Given the description of an element on the screen output the (x, y) to click on. 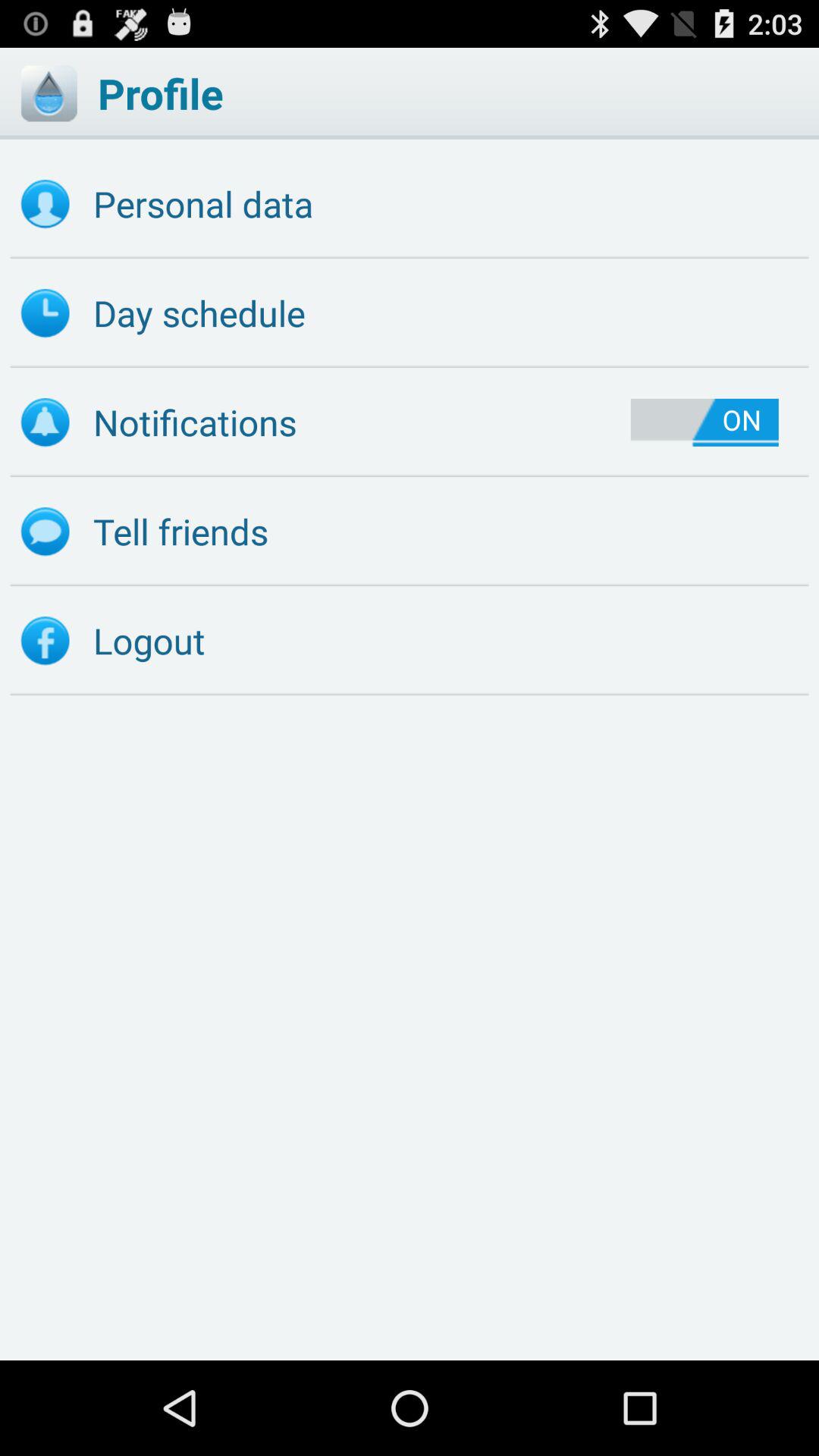
swipe to the logout item (409, 640)
